Given the description of an element on the screen output the (x, y) to click on. 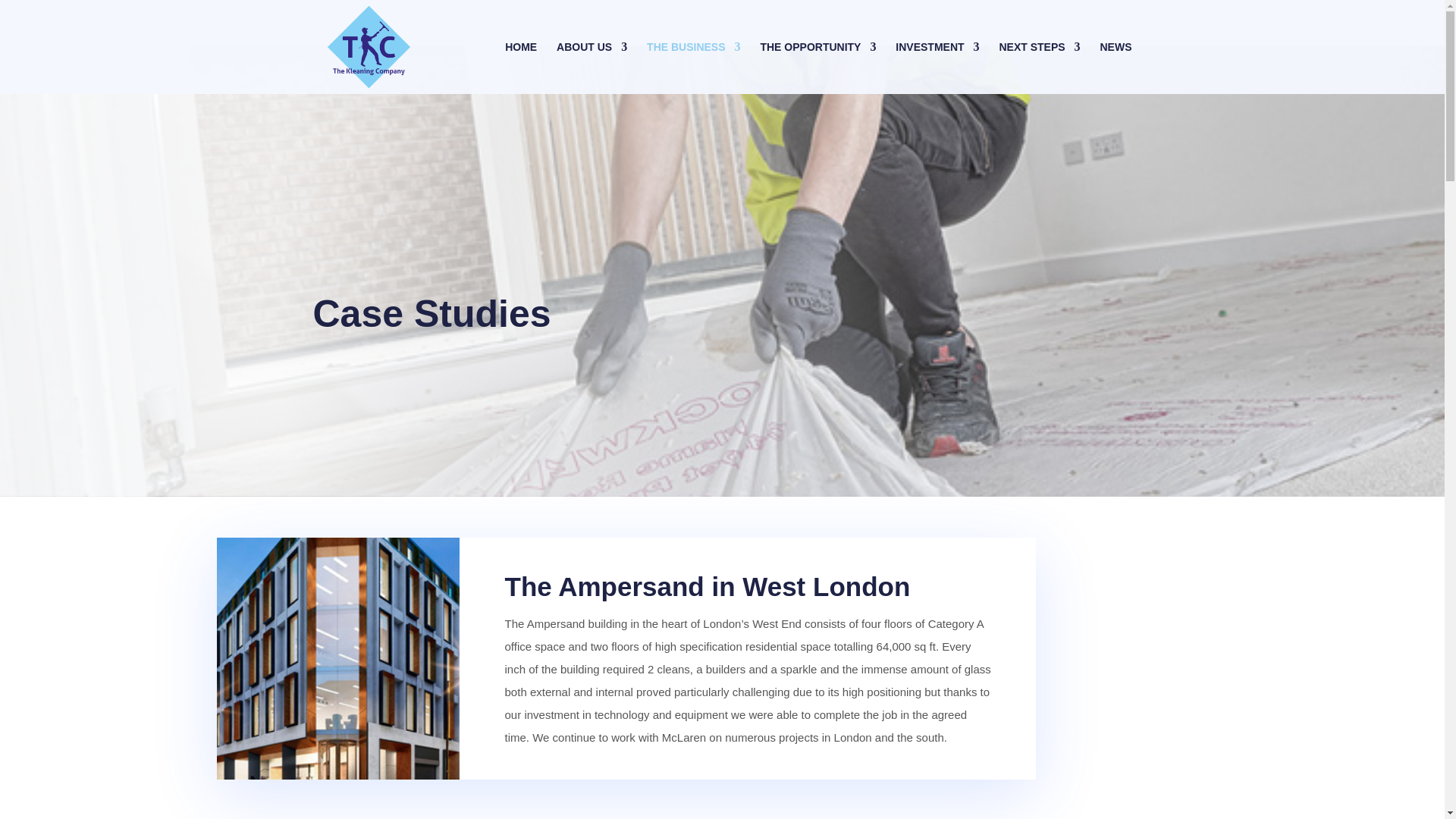
THE OPPORTUNITY (818, 64)
THE BUSINESS (692, 64)
INVESTMENT (936, 64)
NEXT STEPS (1039, 64)
ABOUT US (591, 64)
